Given the description of an element on the screen output the (x, y) to click on. 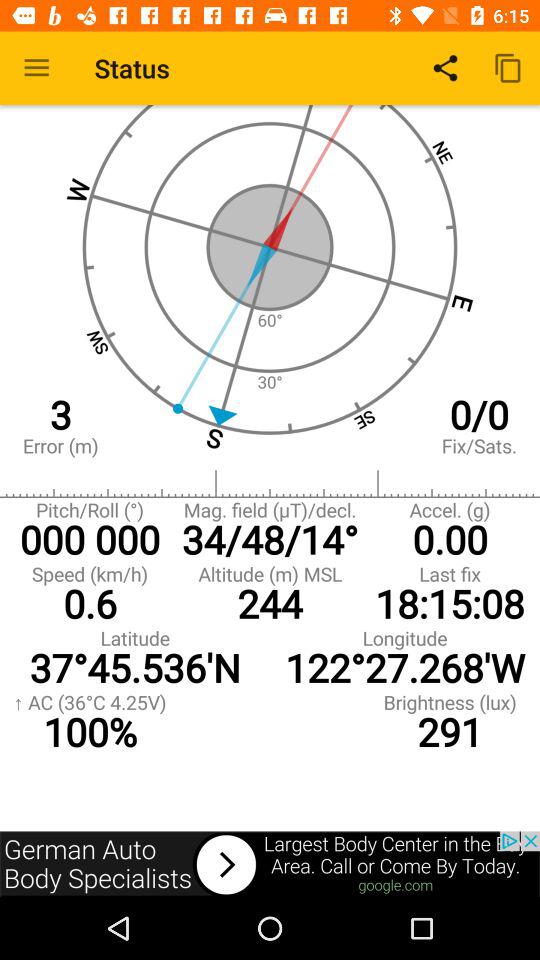
go to next (270, 864)
